Given the description of an element on the screen output the (x, y) to click on. 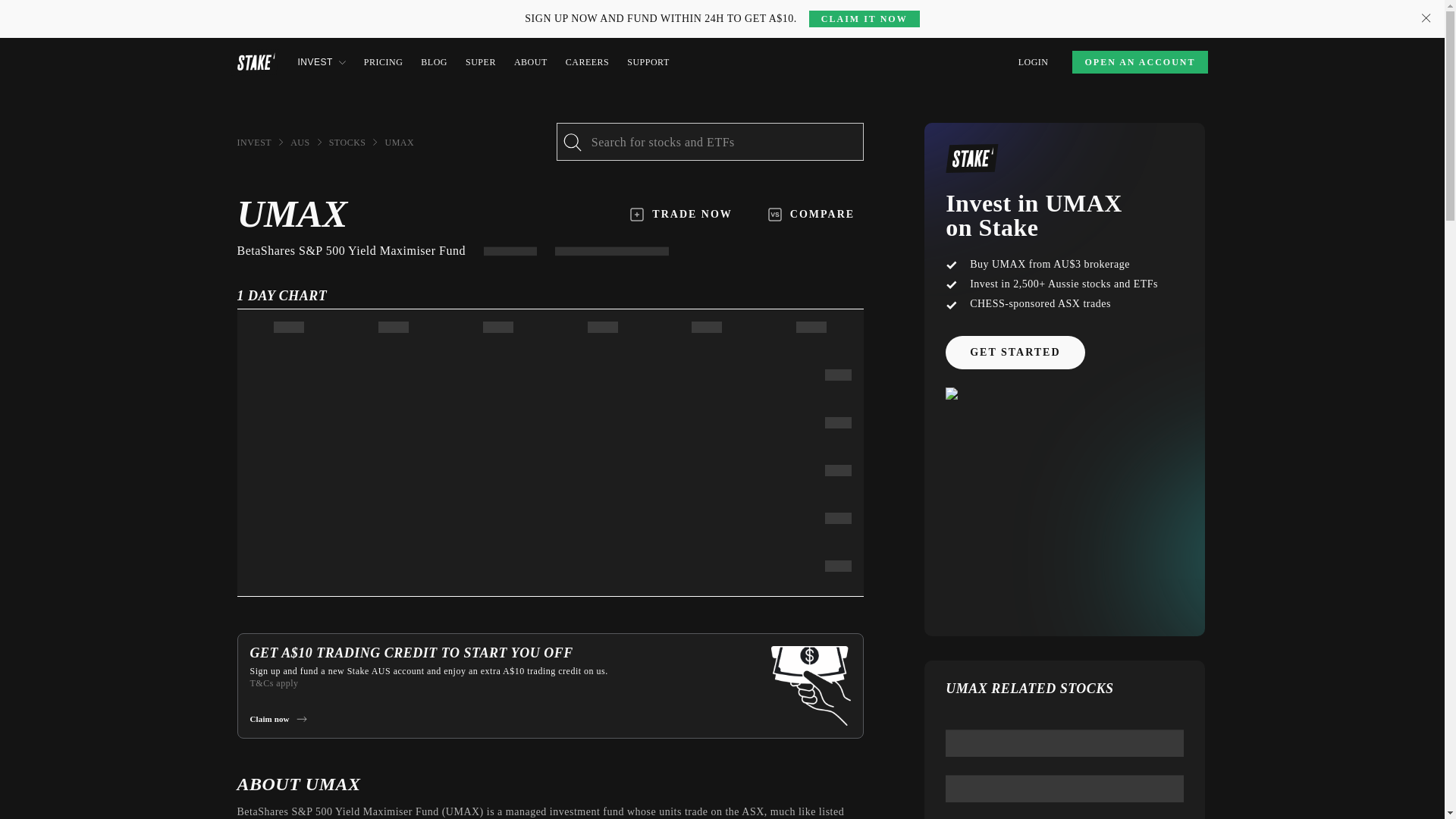
COMPARE (811, 213)
PRICING (383, 61)
UMAX (398, 142)
Claim now (277, 718)
Learn more (341, 9)
TRADE NOW (681, 213)
CLAIM IT NOW (864, 18)
ABOUT (530, 61)
CAREERS (588, 61)
STOCKS (347, 142)
